Given the description of an element on the screen output the (x, y) to click on. 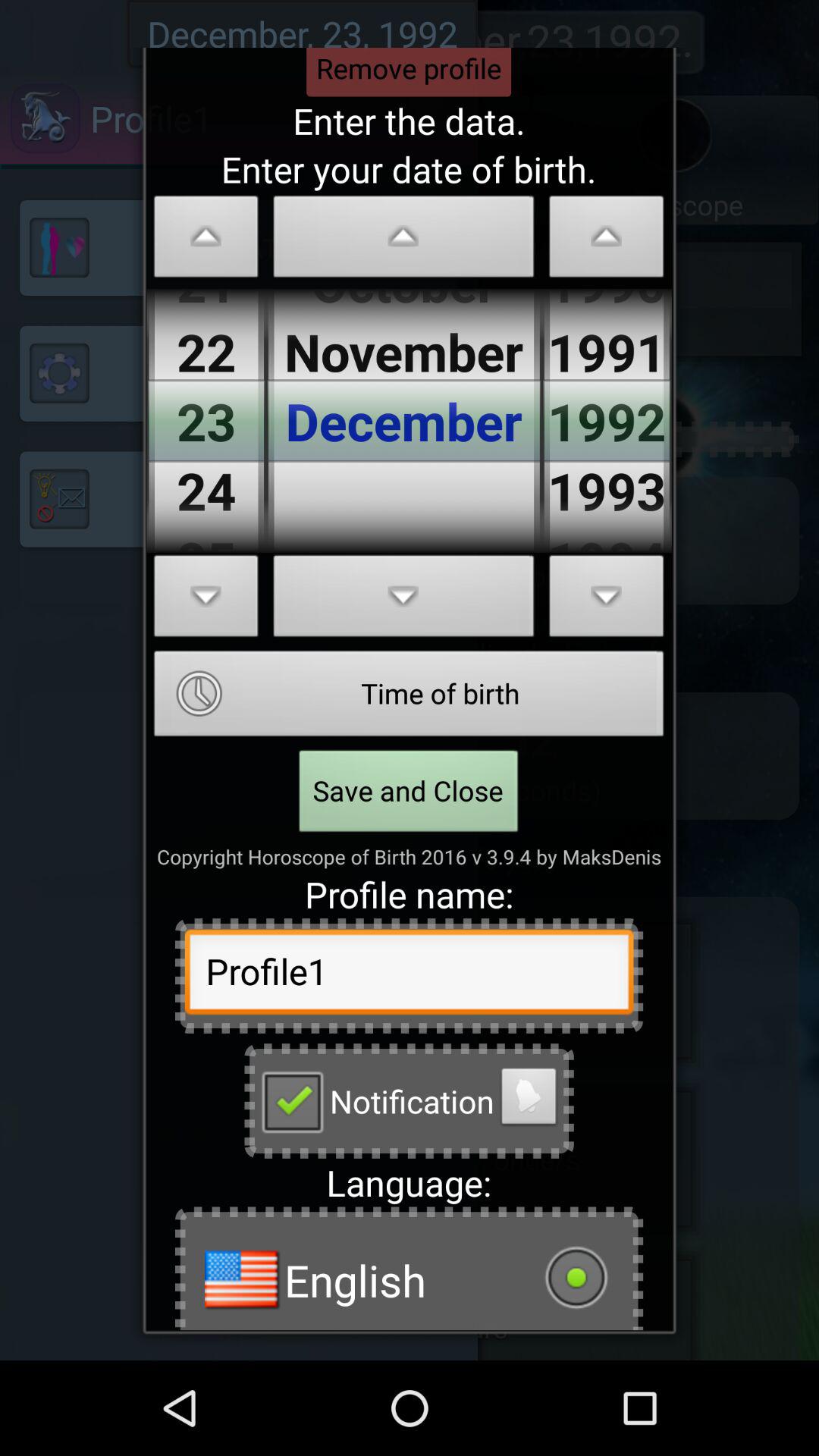
scroll down the year (606, 600)
